Given the description of an element on the screen output the (x, y) to click on. 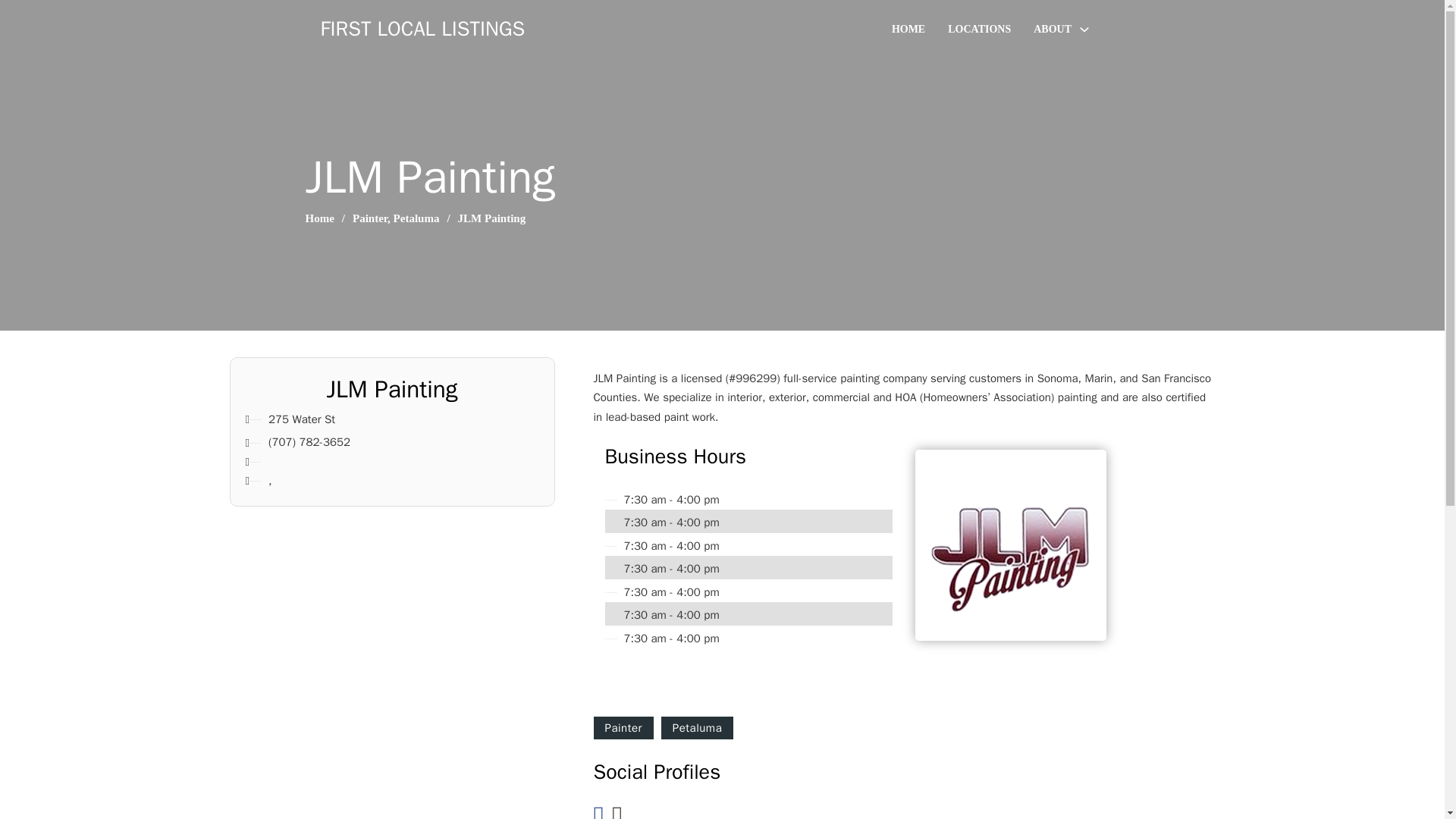
Painter (369, 218)
Painter (622, 727)
LOCATIONS (978, 29)
Petaluma (697, 727)
Home (318, 218)
HOME (907, 29)
FIRST LOCAL LISTINGS (422, 28)
Petaluma (416, 218)
